Given the description of an element on the screen output the (x, y) to click on. 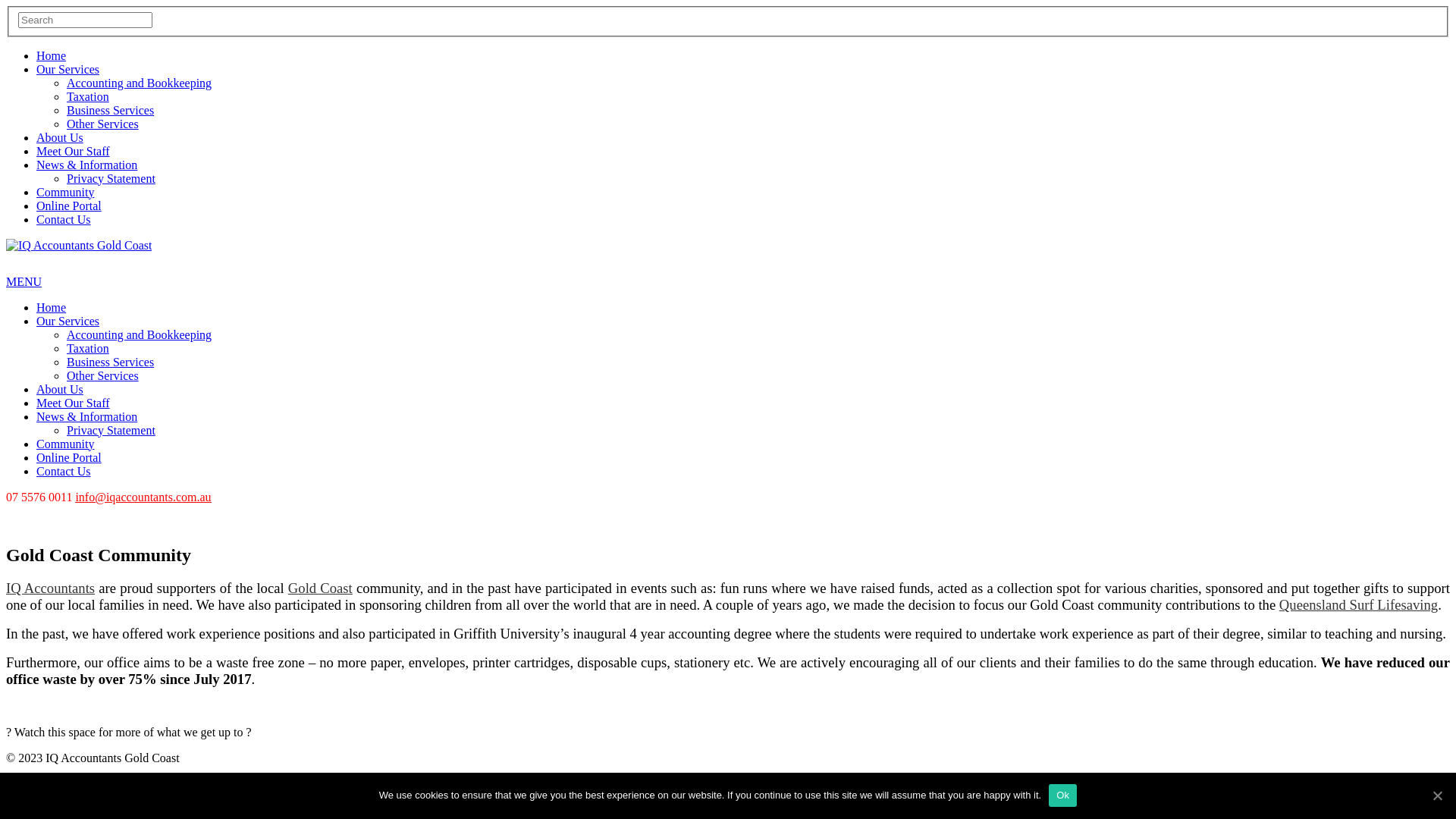
IQ Accountants Element type: text (50, 588)
Business Services Element type: text (109, 361)
Privacy Statement Element type: text (110, 178)
Other Services Element type: text (102, 375)
Other Services Element type: text (102, 123)
Taxation Element type: text (87, 348)
Privacy Statement Element type: text (110, 429)
About Us Element type: text (59, 388)
Contact Us Element type: text (63, 470)
Accounting and Bookkeeping Element type: text (138, 82)
Our Services Element type: text (67, 320)
News & Information Element type: text (86, 164)
Contact Us Element type: text (63, 219)
Home Element type: text (50, 307)
Online Portal Element type: text (68, 205)
Taxation Element type: text (87, 96)
Meet Our Staff Element type: text (72, 150)
MENU Element type: text (23, 281)
Business Services Element type: text (109, 109)
Home Element type: text (50, 55)
info@iqaccountants.com.au Element type: text (142, 496)
Ok Element type: text (1062, 795)
Community Element type: text (65, 191)
News & Information Element type: text (86, 416)
About Us Element type: text (59, 137)
Gold Coast Element type: text (320, 588)
Our Services Element type: text (67, 68)
Accounting and Bookkeeping Element type: text (138, 334)
Meet Our Staff Element type: text (72, 402)
Online Portal Element type: text (68, 457)
Queensland Surf Lifesaving Element type: text (1358, 604)
Community Element type: text (65, 443)
